Given the description of an element on the screen output the (x, y) to click on. 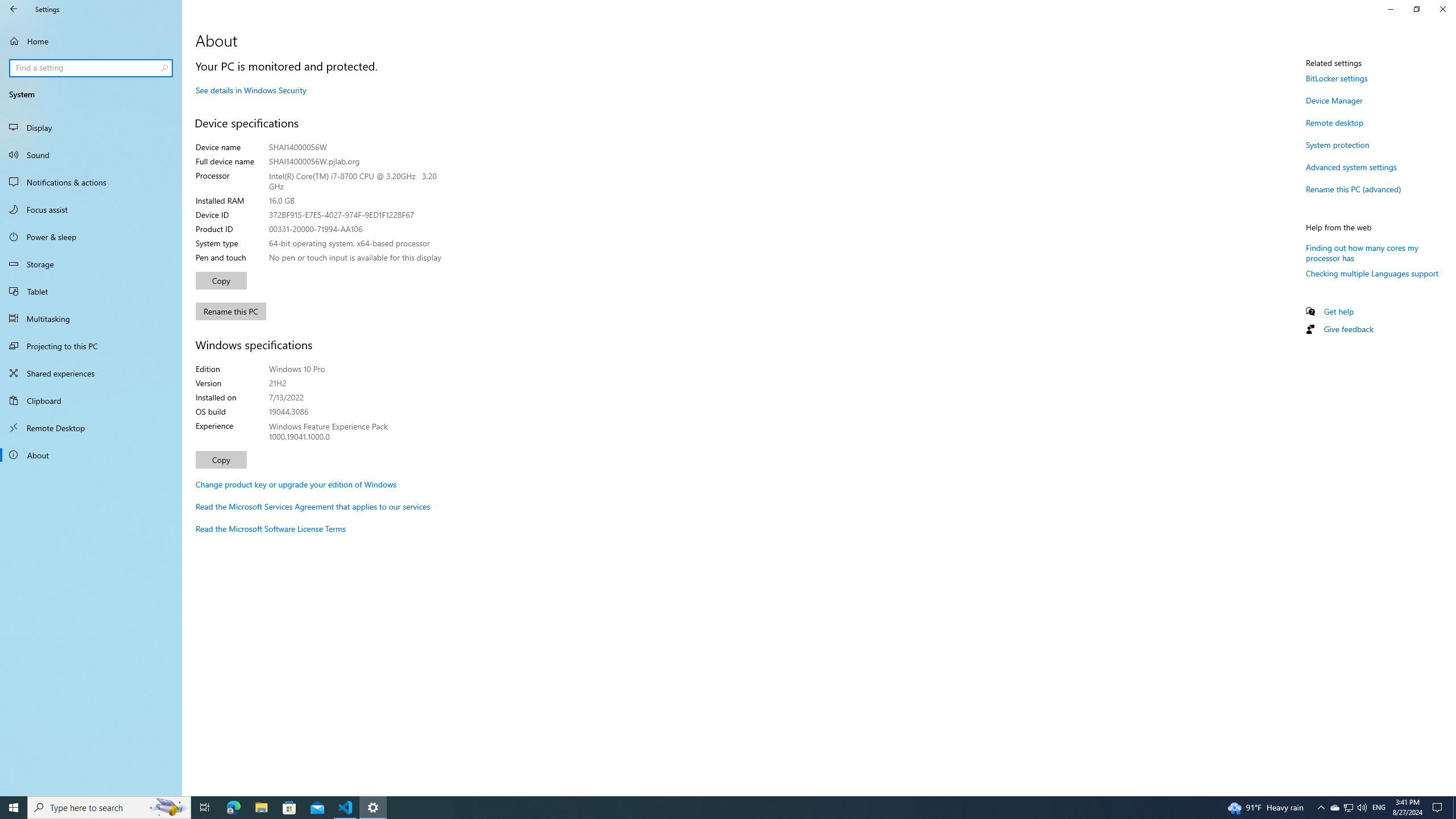
Sound (91, 154)
Remote Desktop (91, 427)
Finding out how many cores my processor has (1362, 252)
Power & sleep (91, 236)
Device Manager (1334, 100)
Notifications & actions (91, 181)
